Given the description of an element on the screen output the (x, y) to click on. 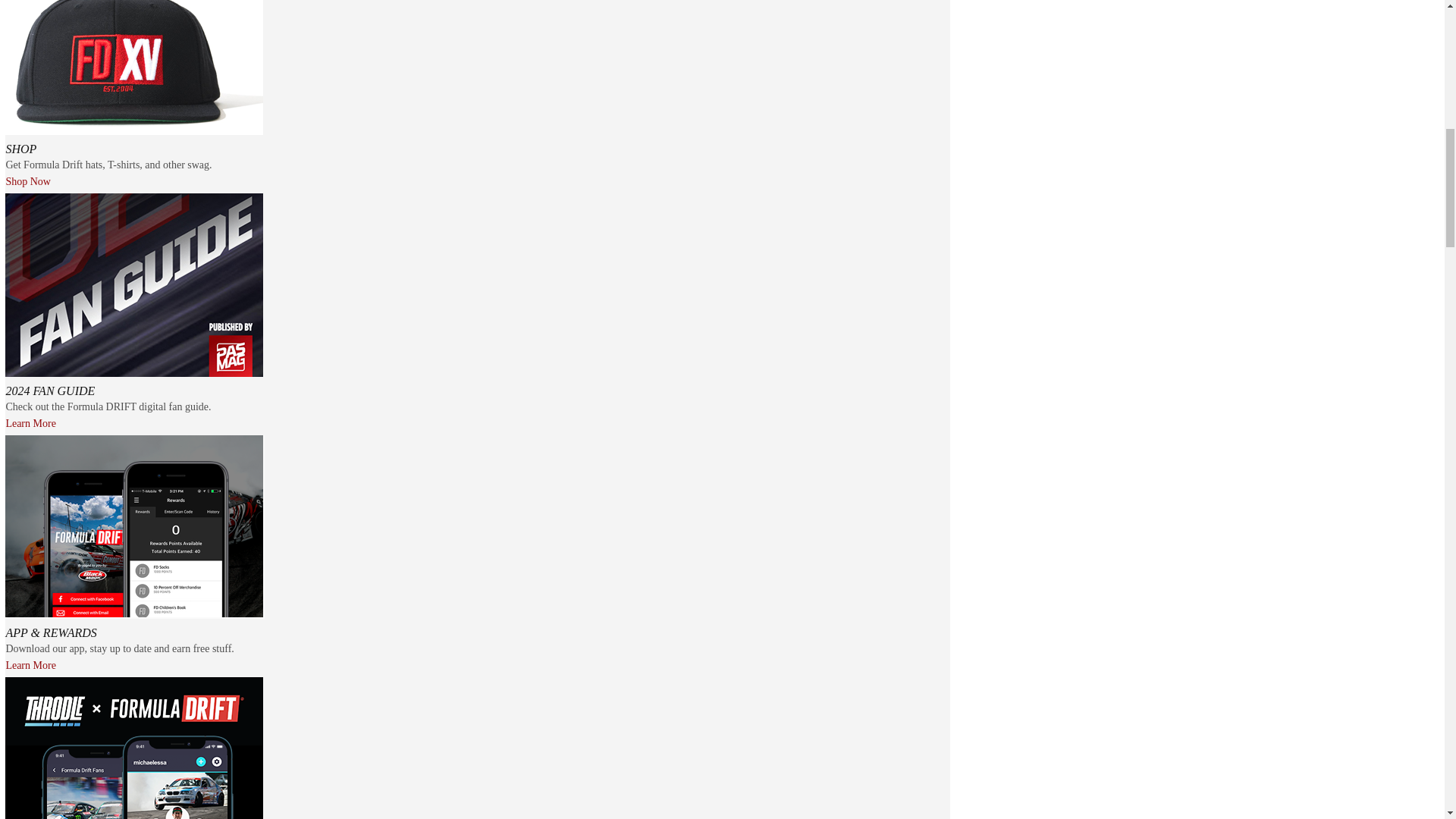
Shop Now (27, 181)
Learn More (30, 423)
Learn More (30, 665)
